Given the description of an element on the screen output the (x, y) to click on. 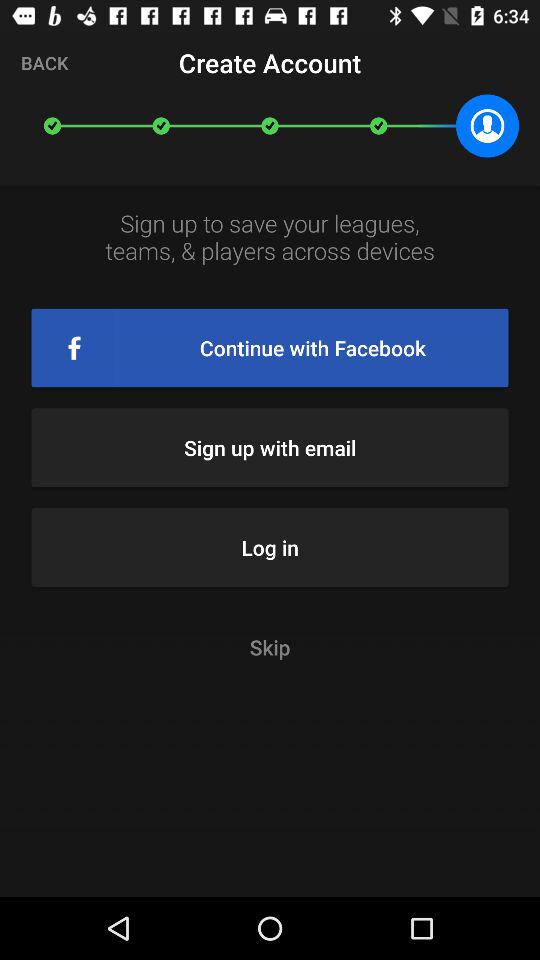
choose the skip icon (269, 646)
